Given the description of an element on the screen output the (x, y) to click on. 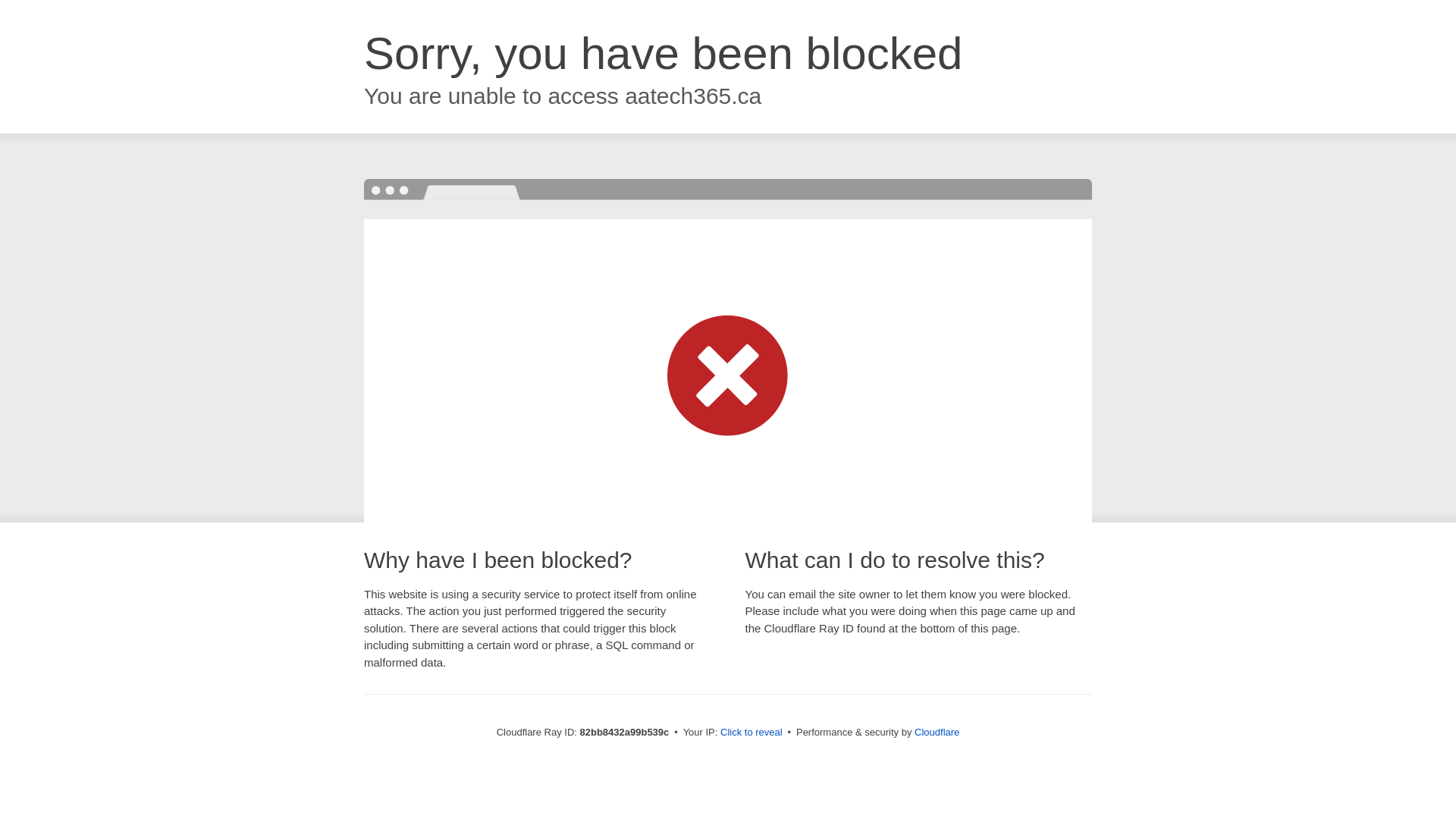
Cloudflare Element type: text (936, 731)
Click to reveal Element type: text (751, 732)
